Given the description of an element on the screen output the (x, y) to click on. 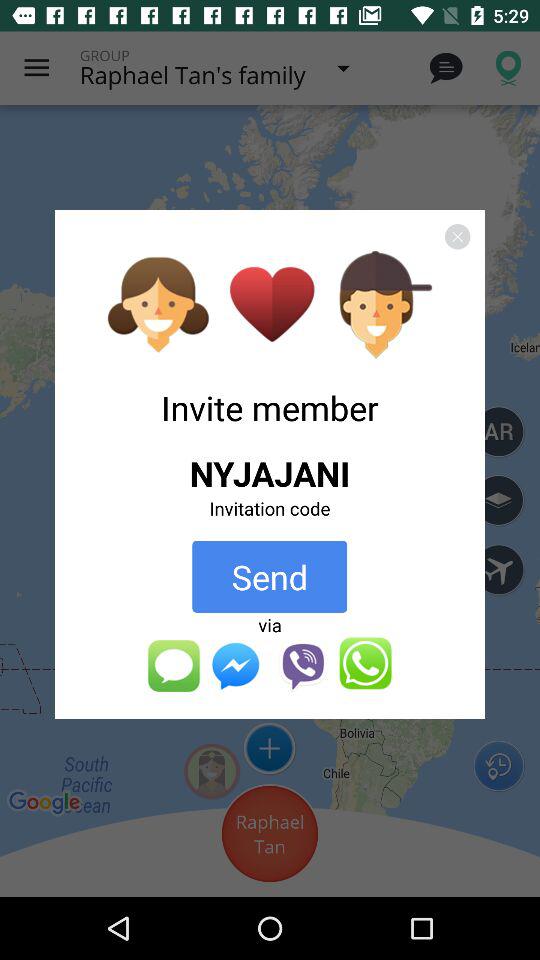
close option (457, 236)
